Given the description of an element on the screen output the (x, y) to click on. 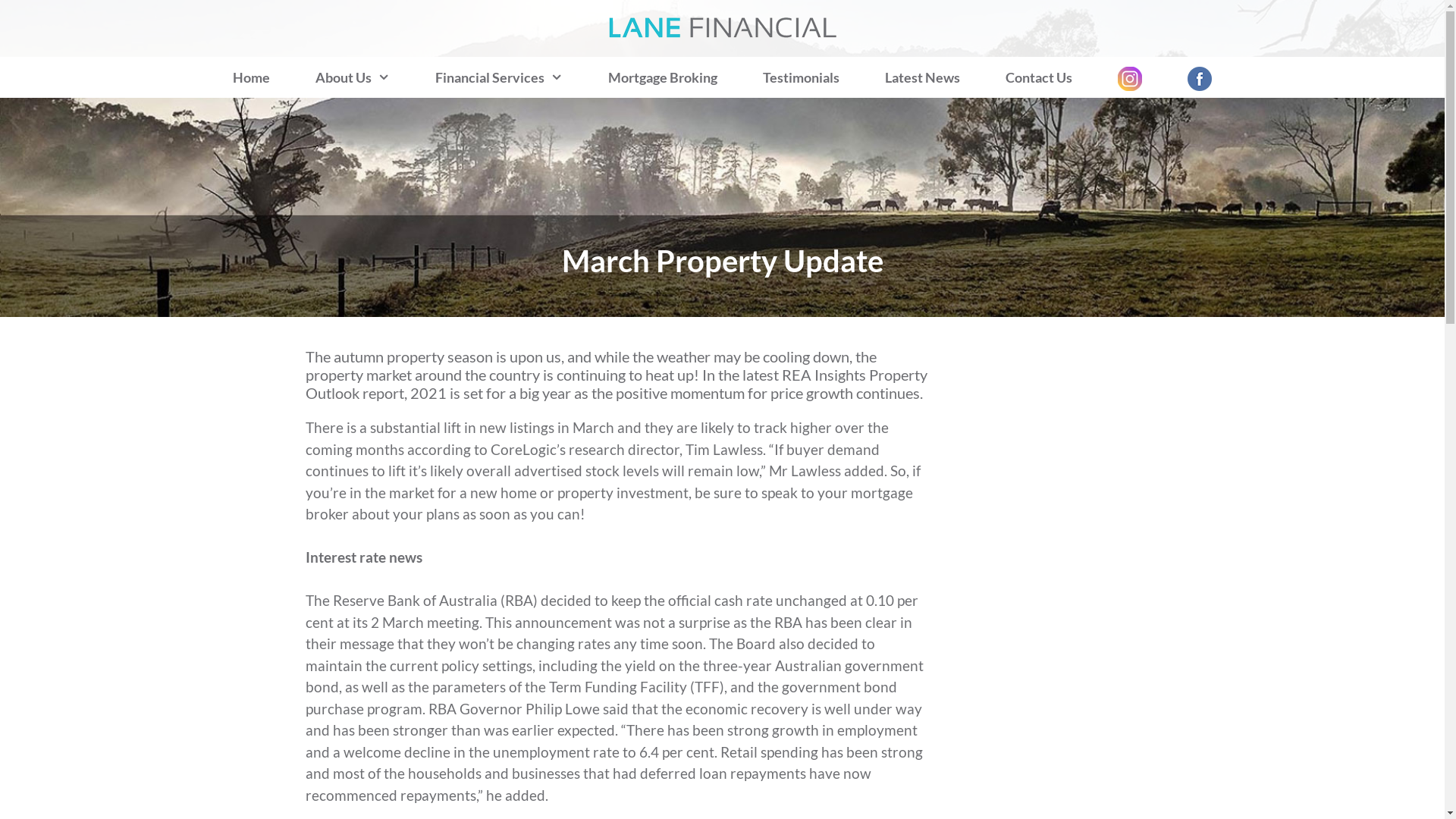
Home Element type: text (251, 76)
Mortgage Broking Element type: text (662, 76)
Latest News Element type: text (922, 76)
Financial Services Element type: text (498, 76)
Testimonials Element type: text (801, 76)
Contact Us Element type: text (1038, 76)
About Us Element type: text (352, 76)
